Given the description of an element on the screen output the (x, y) to click on. 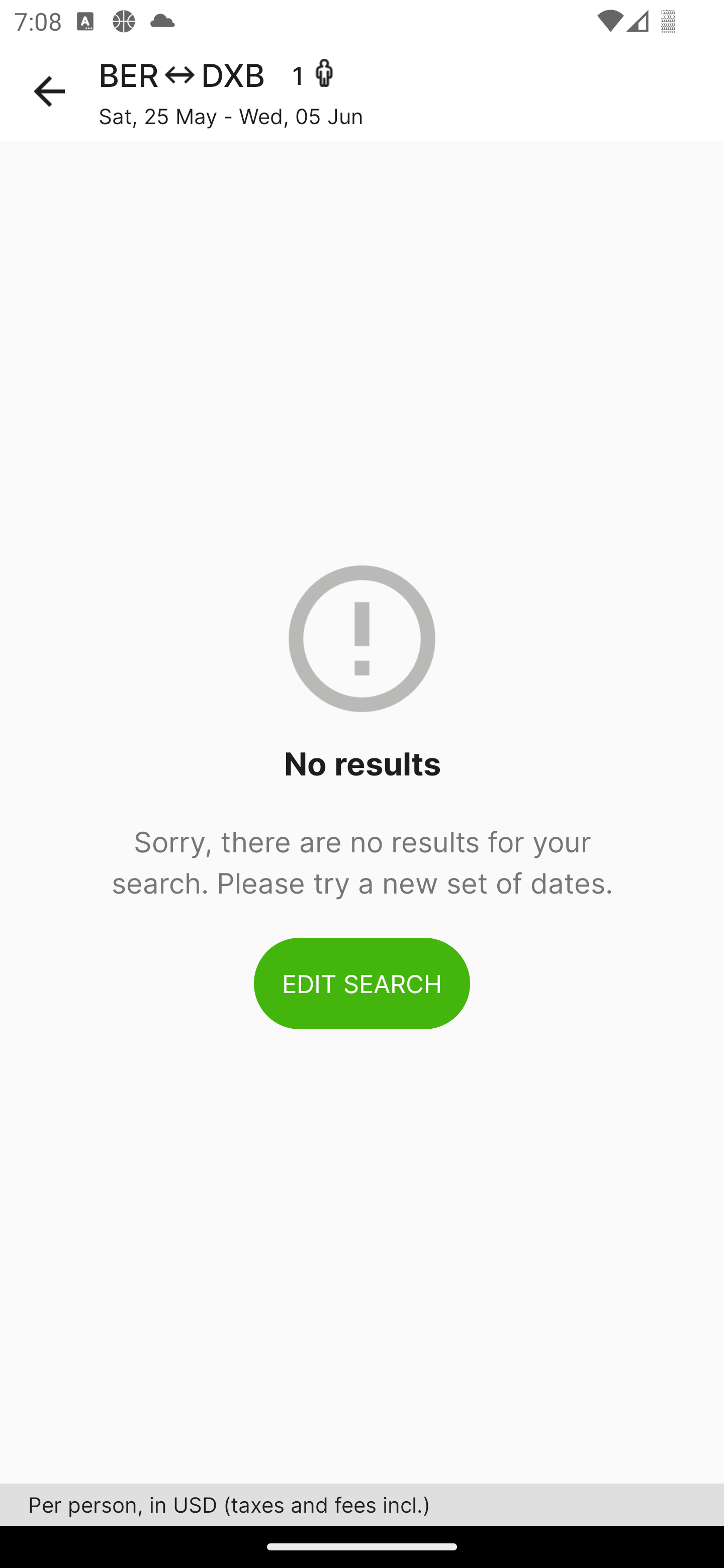
BER DXB   1 - Sat, 25 May - Wed, 05 Jun (411, 91)
EDIT SEARCH (361, 982)
